Given the description of an element on the screen output the (x, y) to click on. 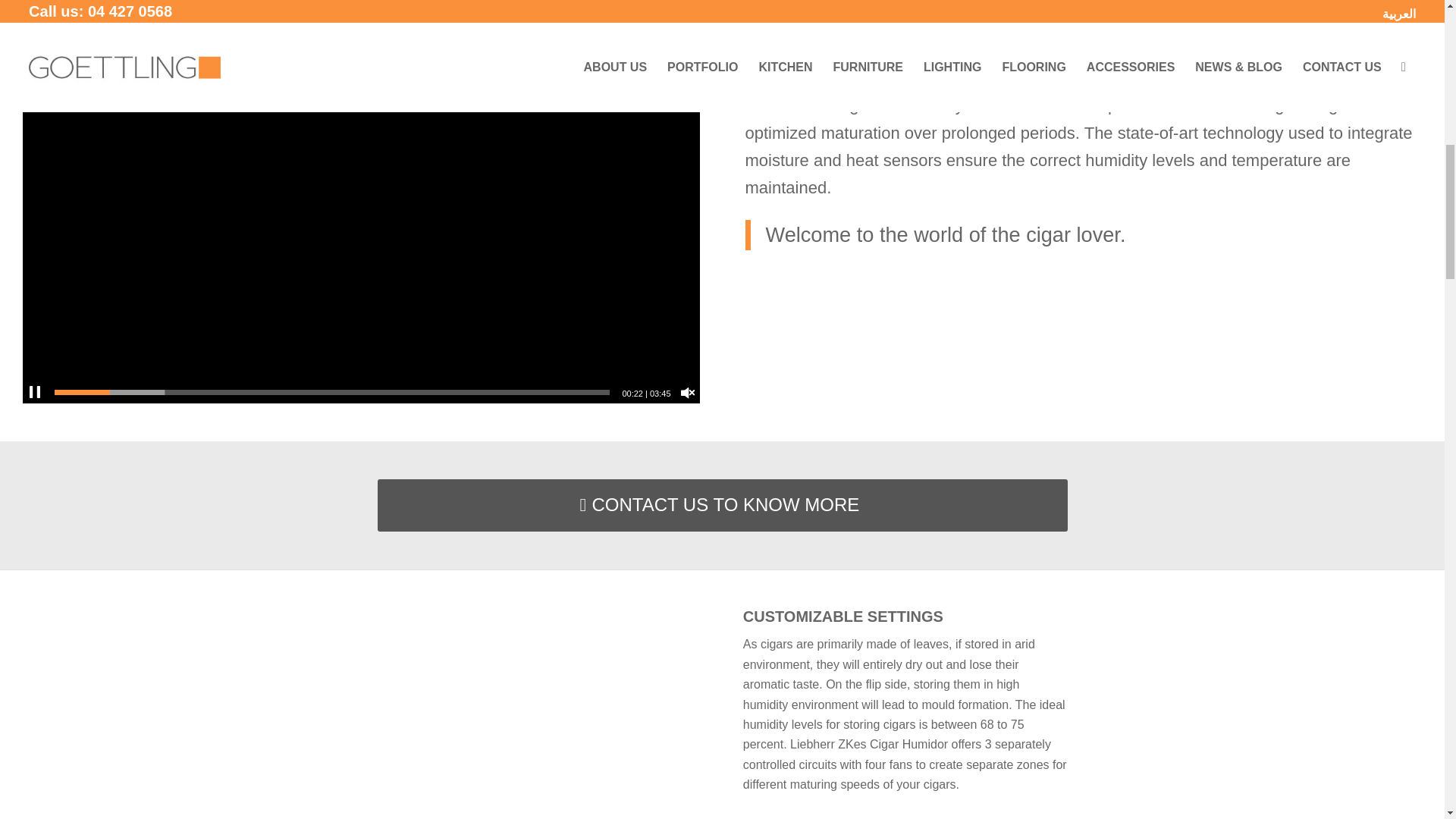
Unmute (686, 392)
Pause (34, 392)
Liebherr-gallery-image-ZKES-2 on countertop (539, 713)
